Given the description of an element on the screen output the (x, y) to click on. 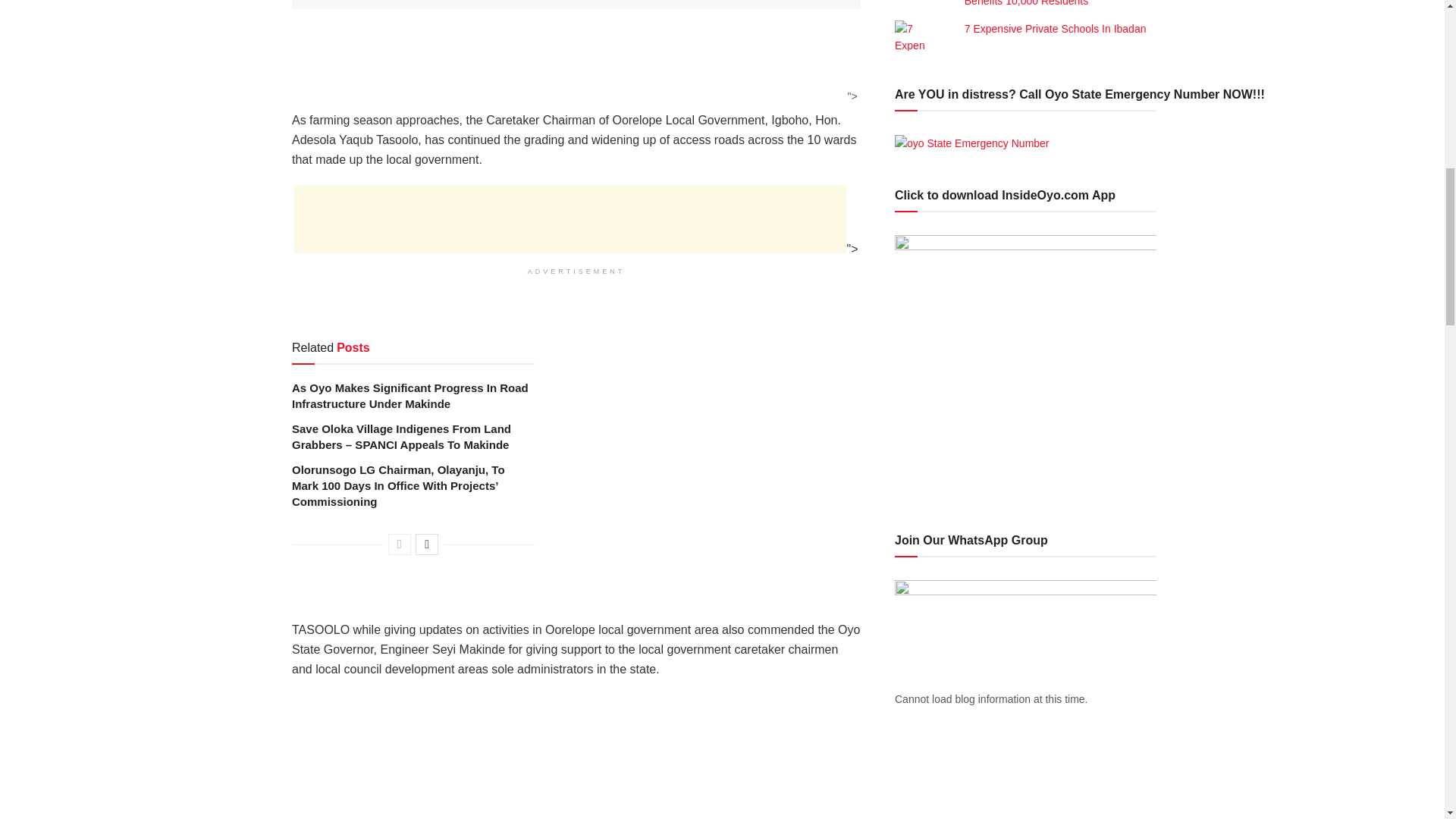
7 Expensive Private Schools In Ibadan (1055, 28)
Next (426, 544)
Are YOU in distress? Call Oyo State Emergency Number NOW!!! (972, 143)
Previous (399, 544)
